Given the description of an element on the screen output the (x, y) to click on. 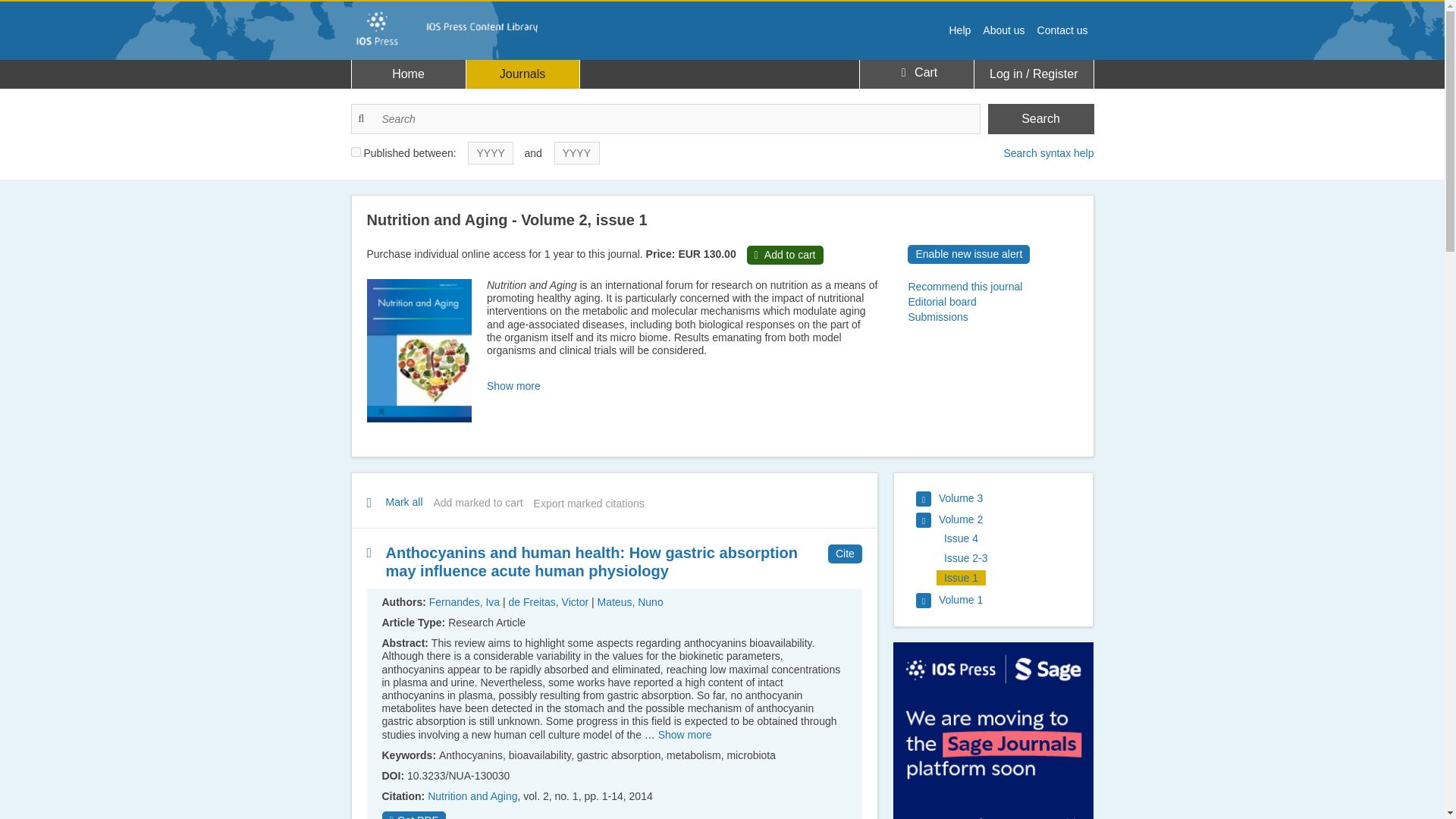
Press to access issues within this volume (949, 498)
Recommend this journal (992, 286)
Search syntax help (1048, 152)
Help (960, 30)
Press to access issues within this volume (949, 600)
Enable new issue alert (968, 253)
Show more (513, 386)
Contact us (1061, 30)
Add to cart (785, 254)
Journals (522, 73)
